Given the description of an element on the screen output the (x, y) to click on. 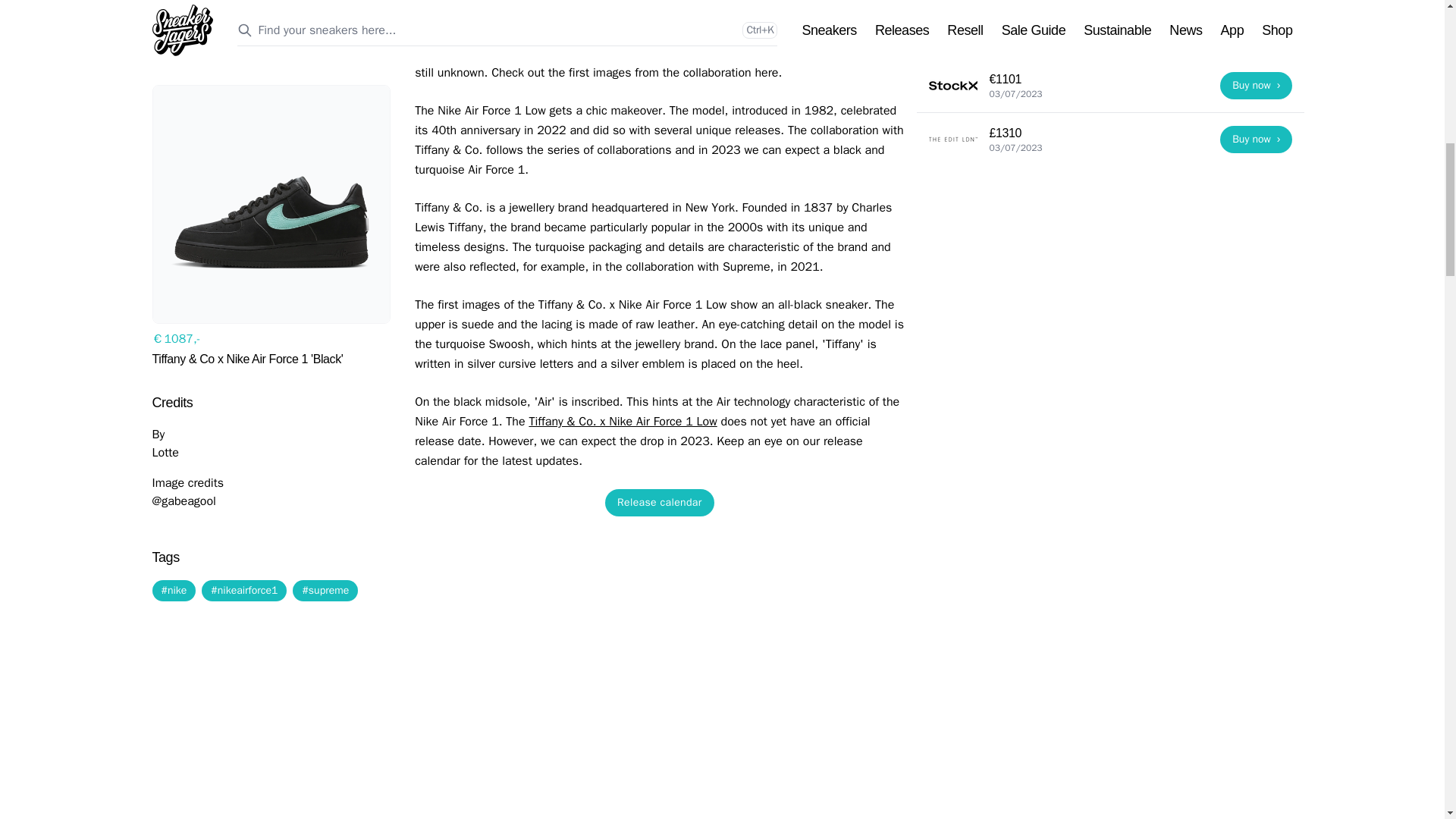
Release calendar (659, 502)
Lotte (164, 371)
